Given the description of an element on the screen output the (x, y) to click on. 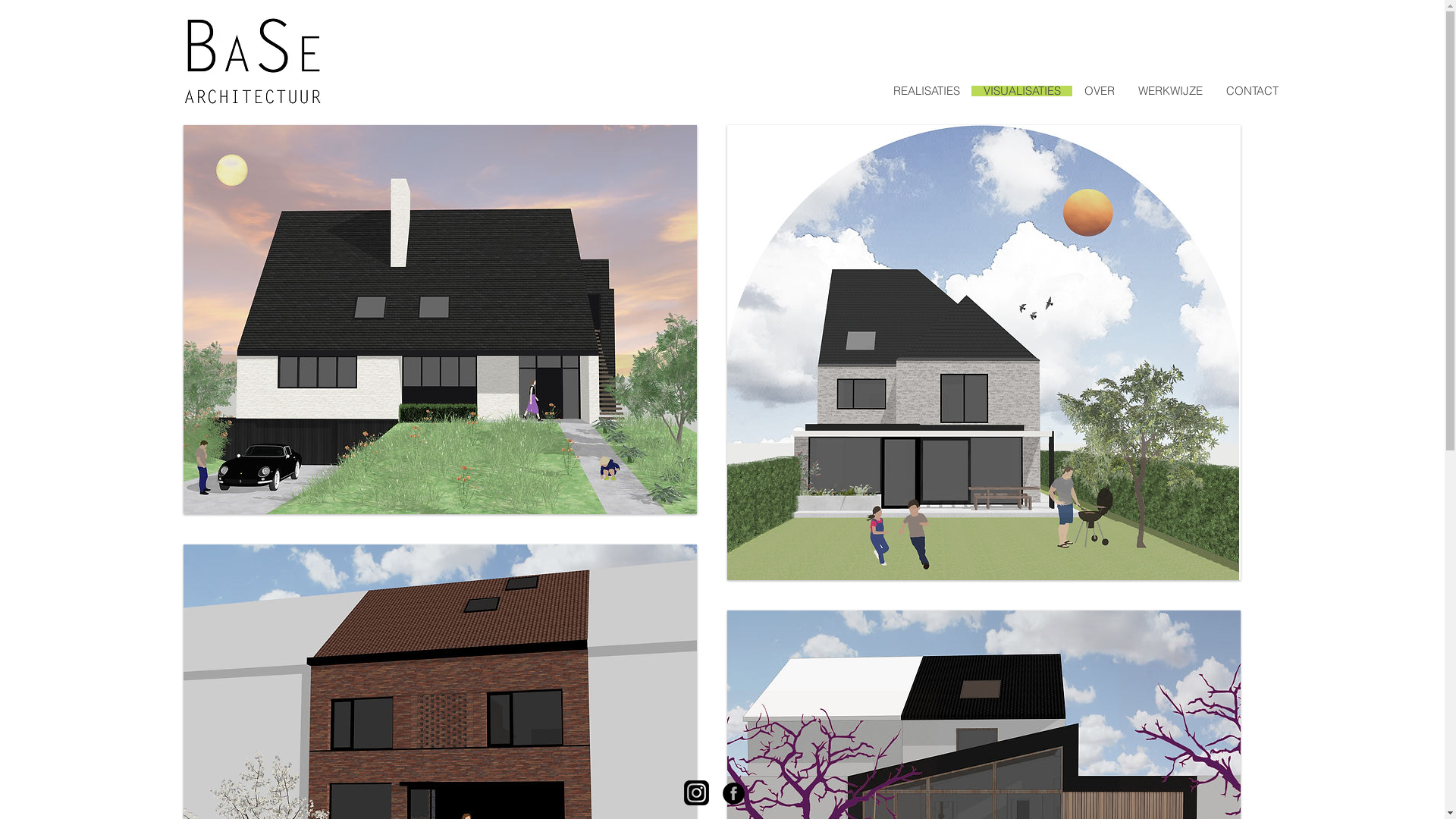
WERKWIJZE Element type: text (1169, 90)
OVER Element type: text (1099, 90)
REALISATIES Element type: text (926, 90)
CONTACT Element type: text (1251, 90)
VISUALISATIES Element type: text (1020, 90)
instagram.png Element type: hover (696, 792)
